Given the description of an element on the screen output the (x, y) to click on. 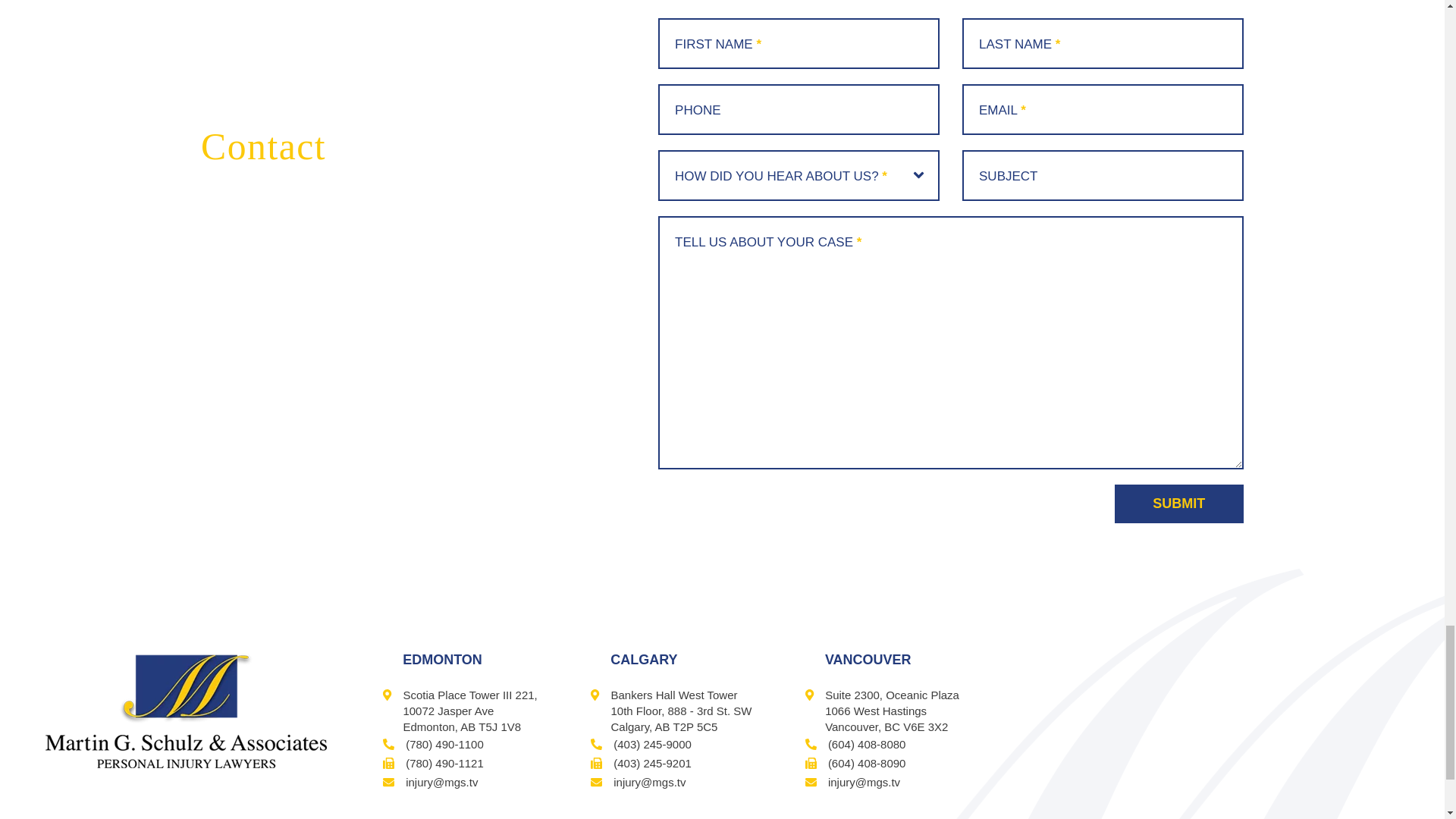
SUBMIT (1179, 503)
